Given the description of an element on the screen output the (x, y) to click on. 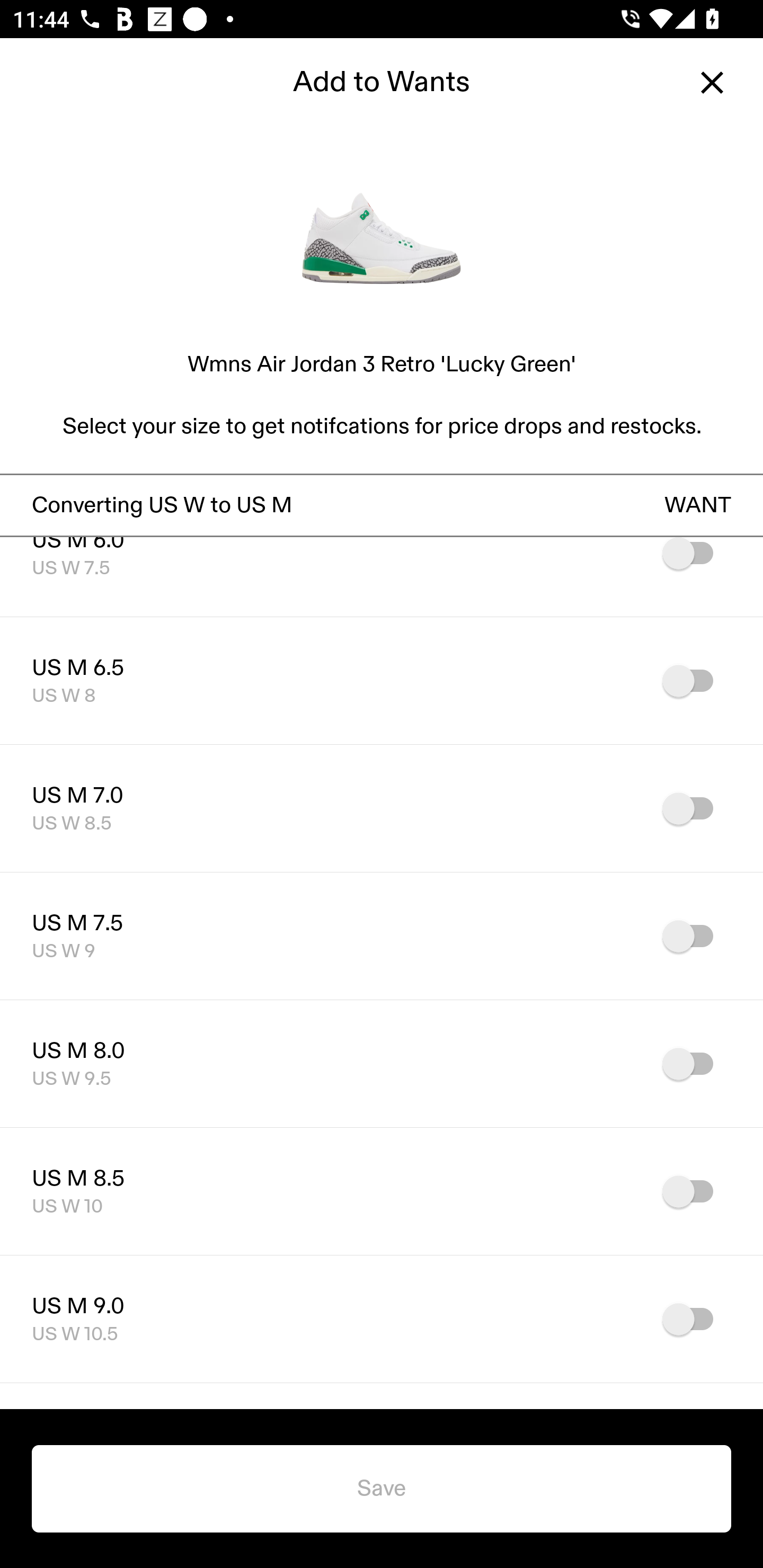
Save (381, 1488)
